Given the description of an element on the screen output the (x, y) to click on. 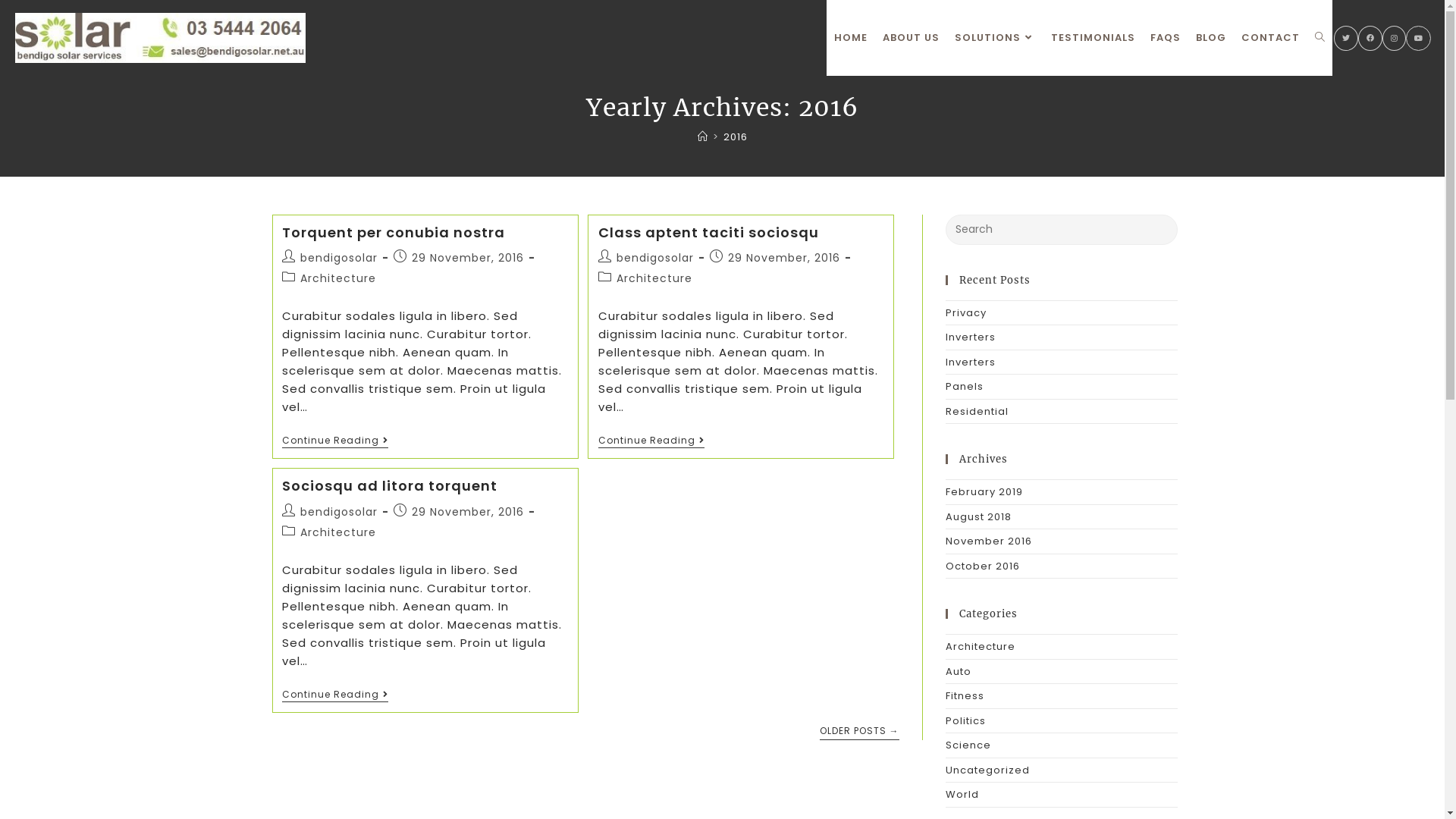
August 2018 Element type: text (977, 516)
Continue Reading
Sociosqu Ad Litora Torquent Element type: text (335, 695)
BLOG Element type: text (1210, 37)
TESTIMONIALS Element type: text (1092, 37)
Panels Element type: text (963, 386)
Sociosqu ad litora torquent Element type: text (389, 485)
Architecture Element type: text (979, 646)
Architecture Element type: text (654, 277)
World Element type: text (961, 794)
Continue Reading
Torquent Per Conubia Nostra Element type: text (335, 441)
Continue Reading
Class Aptent Taciti Sociosqu Element type: text (651, 441)
Inverters Element type: text (969, 336)
Auto Element type: text (957, 671)
Class aptent taciti sociosqu Element type: text (708, 231)
Inverters Element type: text (969, 361)
Politics Element type: text (964, 720)
Architecture Element type: text (338, 277)
bendigosolar Element type: text (654, 257)
ABOUT US Element type: text (911, 37)
Architecture Element type: text (338, 531)
2016 Element type: text (735, 136)
Residential Element type: text (975, 411)
SOLUTIONS Element type: text (995, 37)
Uncategorized Element type: text (986, 769)
Torquent per conubia nostra Element type: text (393, 231)
Fitness Element type: text (963, 695)
November 2016 Element type: text (987, 540)
bendigosolar Element type: text (338, 511)
FAQS Element type: text (1165, 37)
October 2016 Element type: text (981, 565)
Privacy Element type: text (964, 312)
February 2019 Element type: text (983, 491)
bendigosolar Element type: text (338, 257)
HOME Element type: text (850, 37)
CONTACT Element type: text (1270, 37)
TOGGLE WEBSITE SEARCH Element type: text (1319, 37)
Science Element type: text (967, 744)
